Given the description of an element on the screen output the (x, y) to click on. 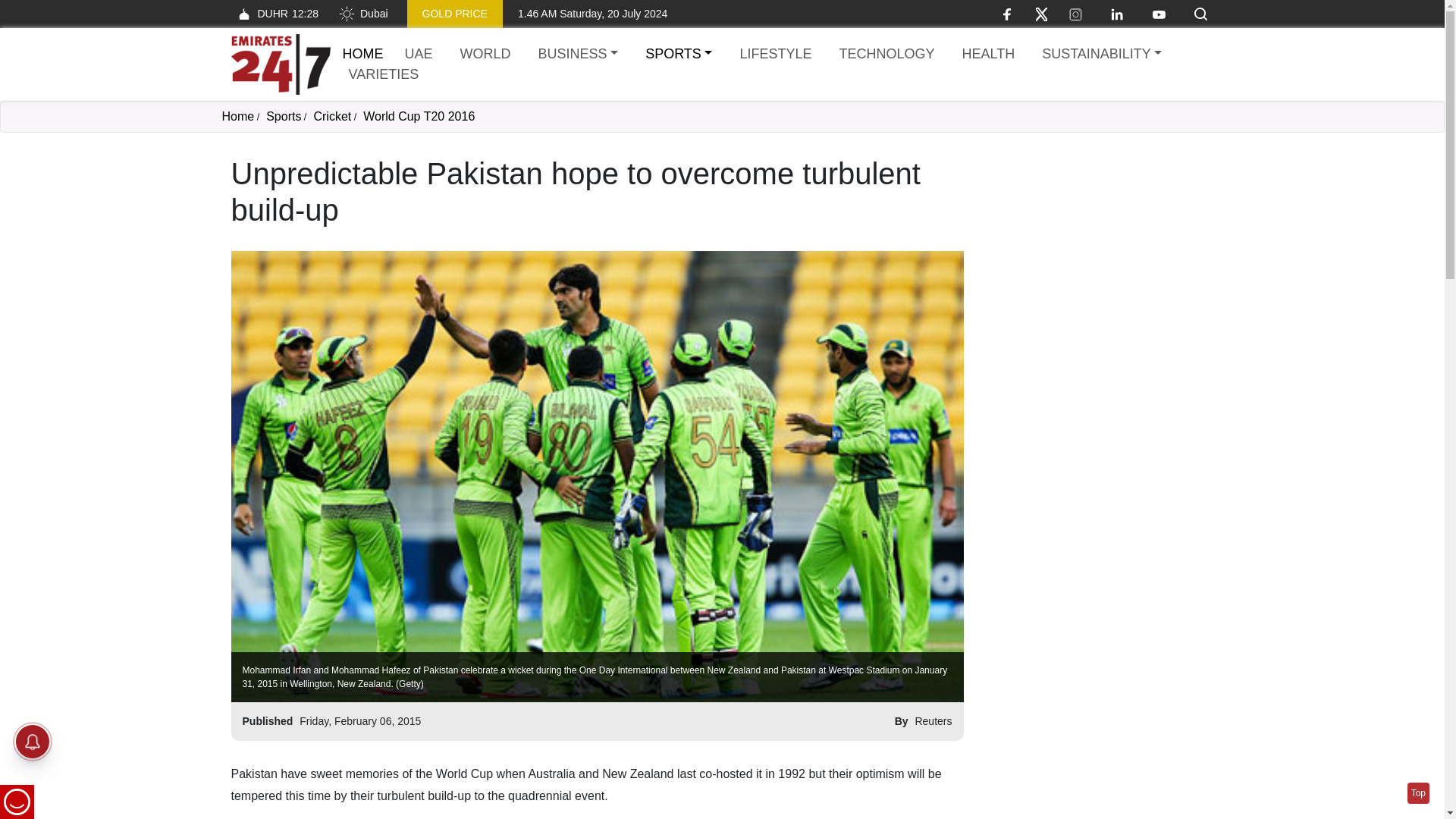
Go to top (1418, 792)
LIFESTYLE (774, 54)
World Cup T20 2016 (418, 115)
Home (280, 64)
SPORTS (678, 54)
UAE (418, 54)
Dubai (362, 13)
VARIETIES (383, 74)
HEALTH (987, 54)
Home (363, 53)
Home (237, 115)
Sports (283, 115)
3rd party ad content (1097, 249)
WORLD (485, 54)
